Given the description of an element on the screen output the (x, y) to click on. 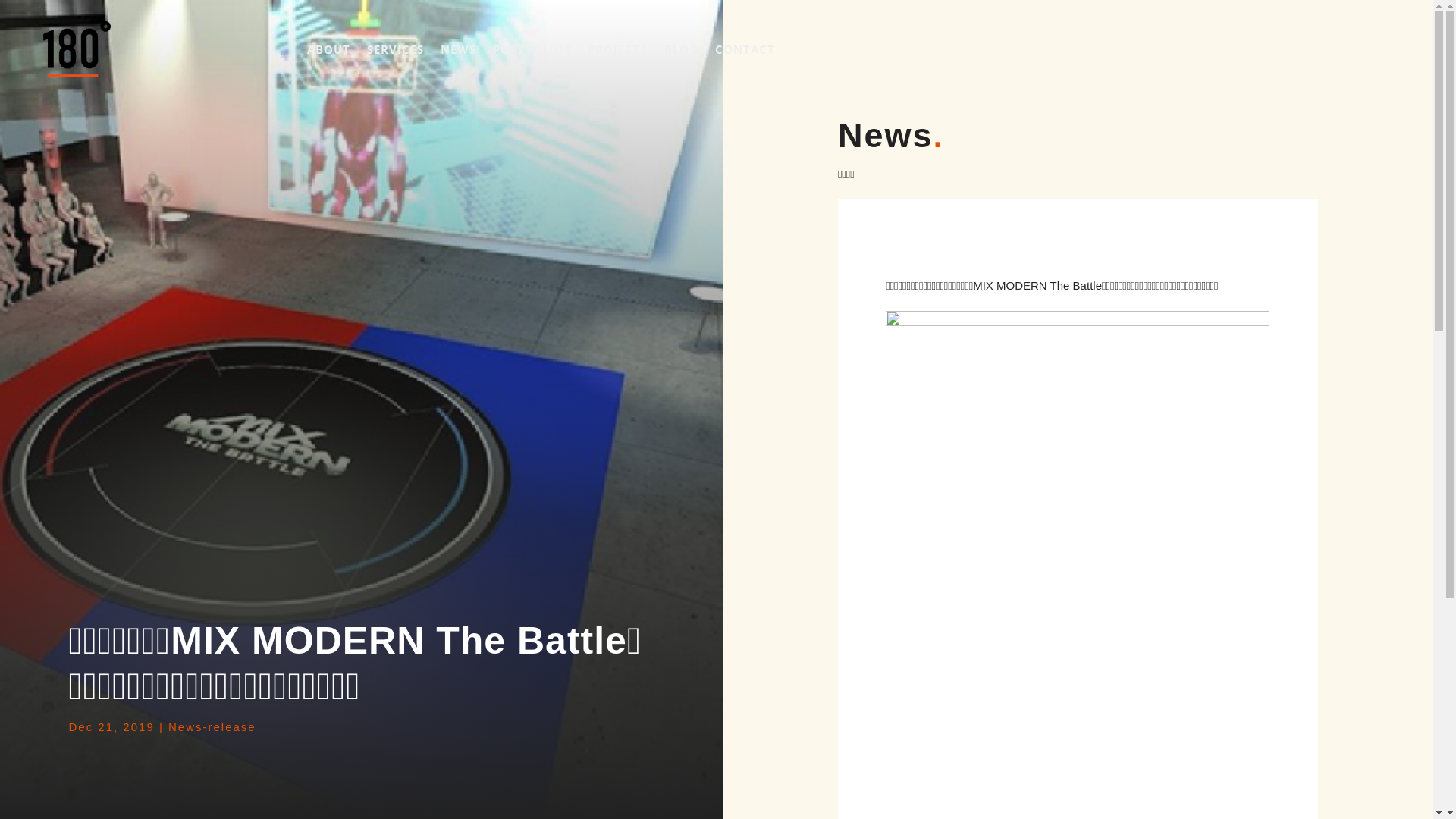
PORTFOLIOS Element type: text (531, 49)
BLOG Element type: text (681, 49)
News-release Element type: text (212, 726)
CONTACT Element type: text (745, 49)
NEWS Element type: text (458, 49)
SERVICES Element type: text (395, 49)
ABOUT Element type: text (328, 49)
PROJECTS Element type: text (617, 49)
